Given the description of an element on the screen output the (x, y) to click on. 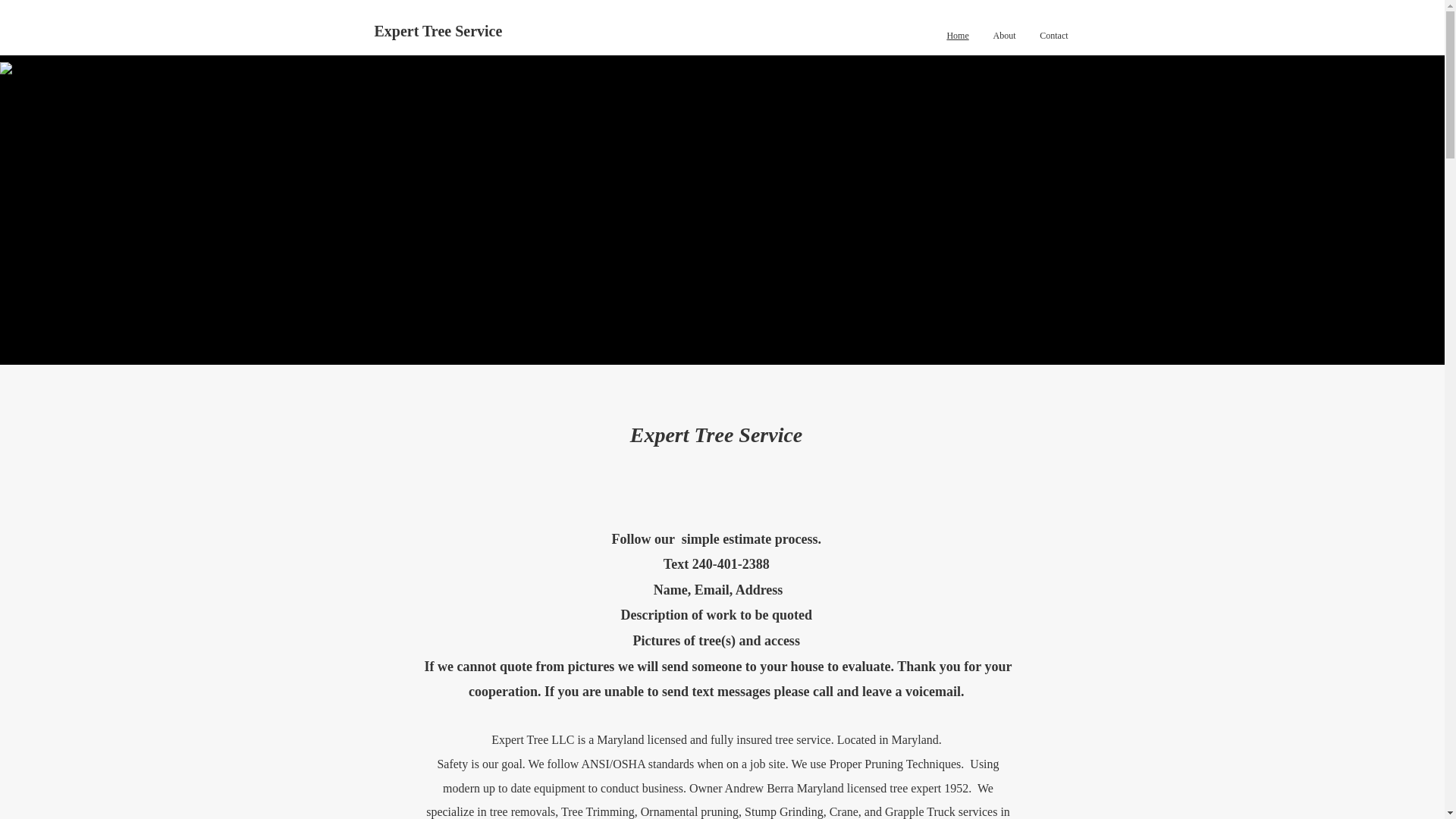
Home Element type: text (957, 35)
Contact Element type: text (1053, 35)
About Element type: text (1004, 35)
